Given the description of an element on the screen output the (x, y) to click on. 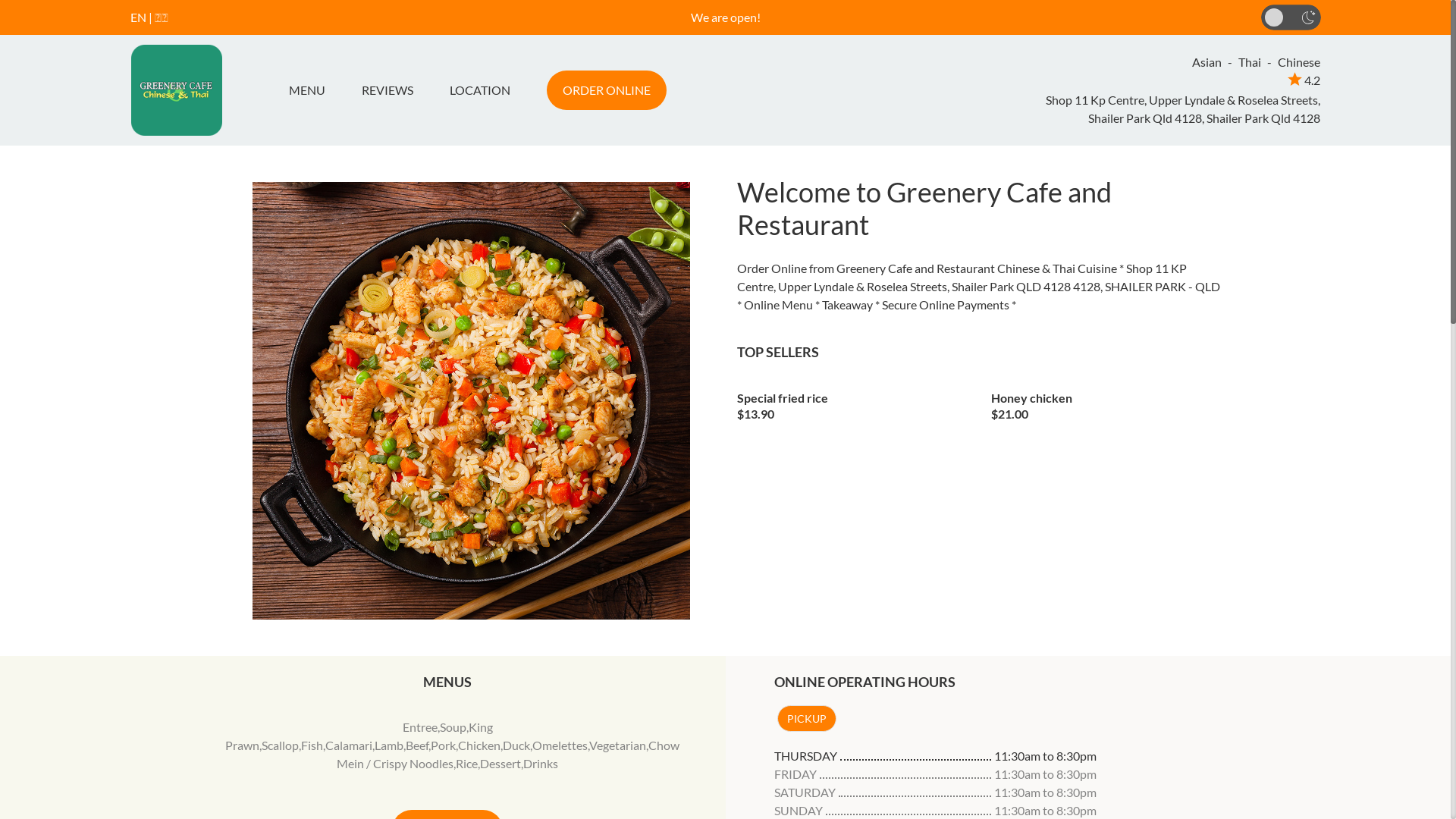
King Prawn Element type: text (358, 735)
ORDER ONLINE Element type: text (605, 89)
Drinks Element type: text (540, 763)
Special fried rice
$13.90 Element type: text (853, 401)
Chow Mein / Crispy Noodles Element type: text (507, 753)
Soup Element type: text (452, 726)
Scallop Element type: text (279, 744)
Honey chicken
$21.00 Element type: text (1107, 401)
Lamb Element type: text (388, 744)
Beef Element type: text (416, 744)
Duck Element type: text (516, 744)
MENU Element type: text (312, 90)
Pork Element type: text (442, 744)
LOCATION Element type: text (478, 90)
Calamari Element type: text (348, 744)
PICKUP Element type: text (805, 718)
Rice Element type: text (466, 763)
REVIEWS Element type: text (386, 90)
Omelettes Element type: text (559, 744)
Chicken Element type: text (479, 744)
Fish Element type: text (312, 744)
Vegetarian Element type: text (617, 744)
Dessert Element type: text (500, 763)
EN Element type: text (138, 16)
4.2 Element type: text (1303, 79)
Entree Element type: text (419, 726)
